Given the description of an element on the screen output the (x, y) to click on. 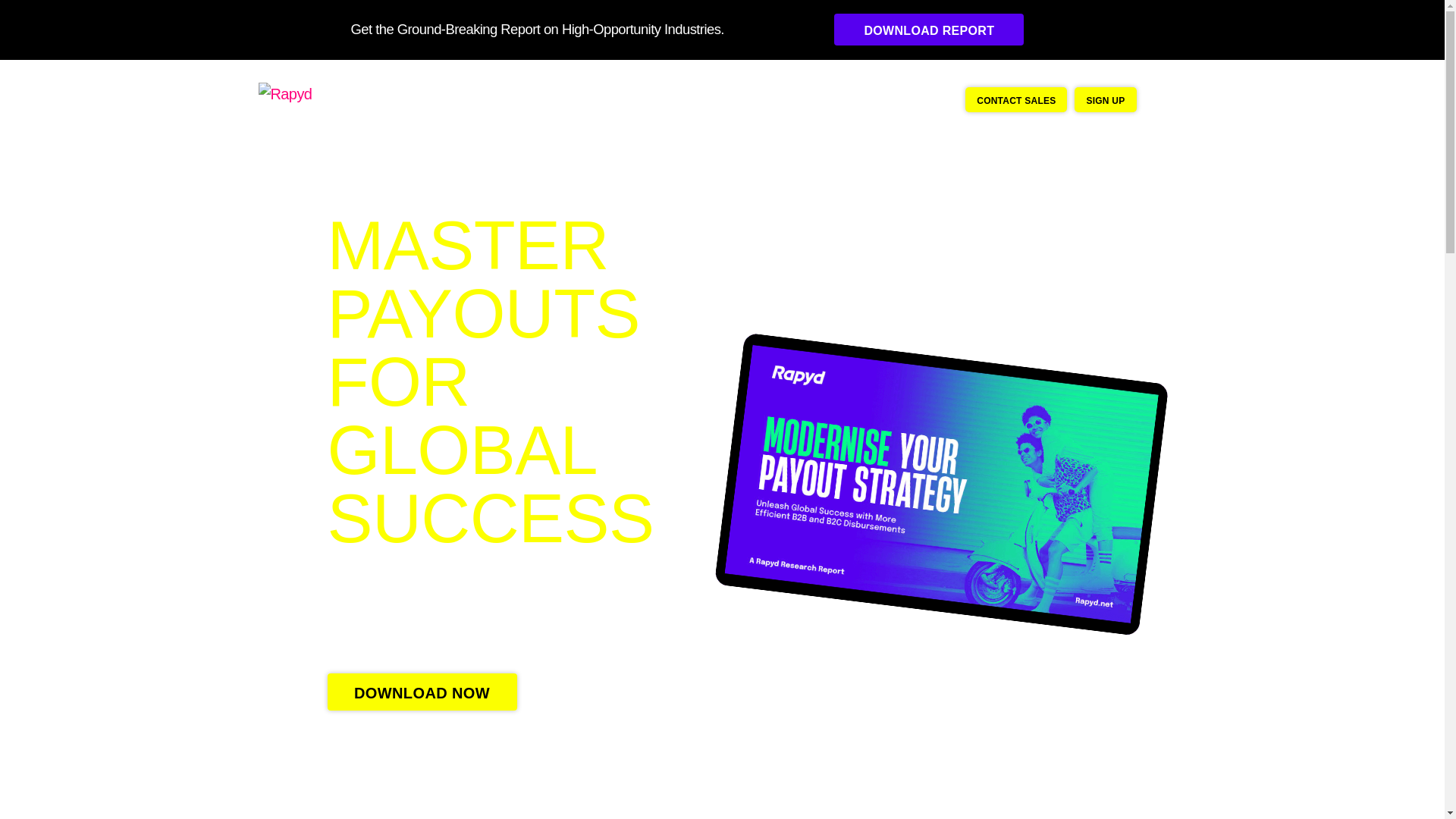
PARTNERS (604, 98)
SOLUTIONS (435, 98)
DOWNLOAD REPORT (928, 29)
PRODUCTS (521, 98)
